Given the description of an element on the screen output the (x, y) to click on. 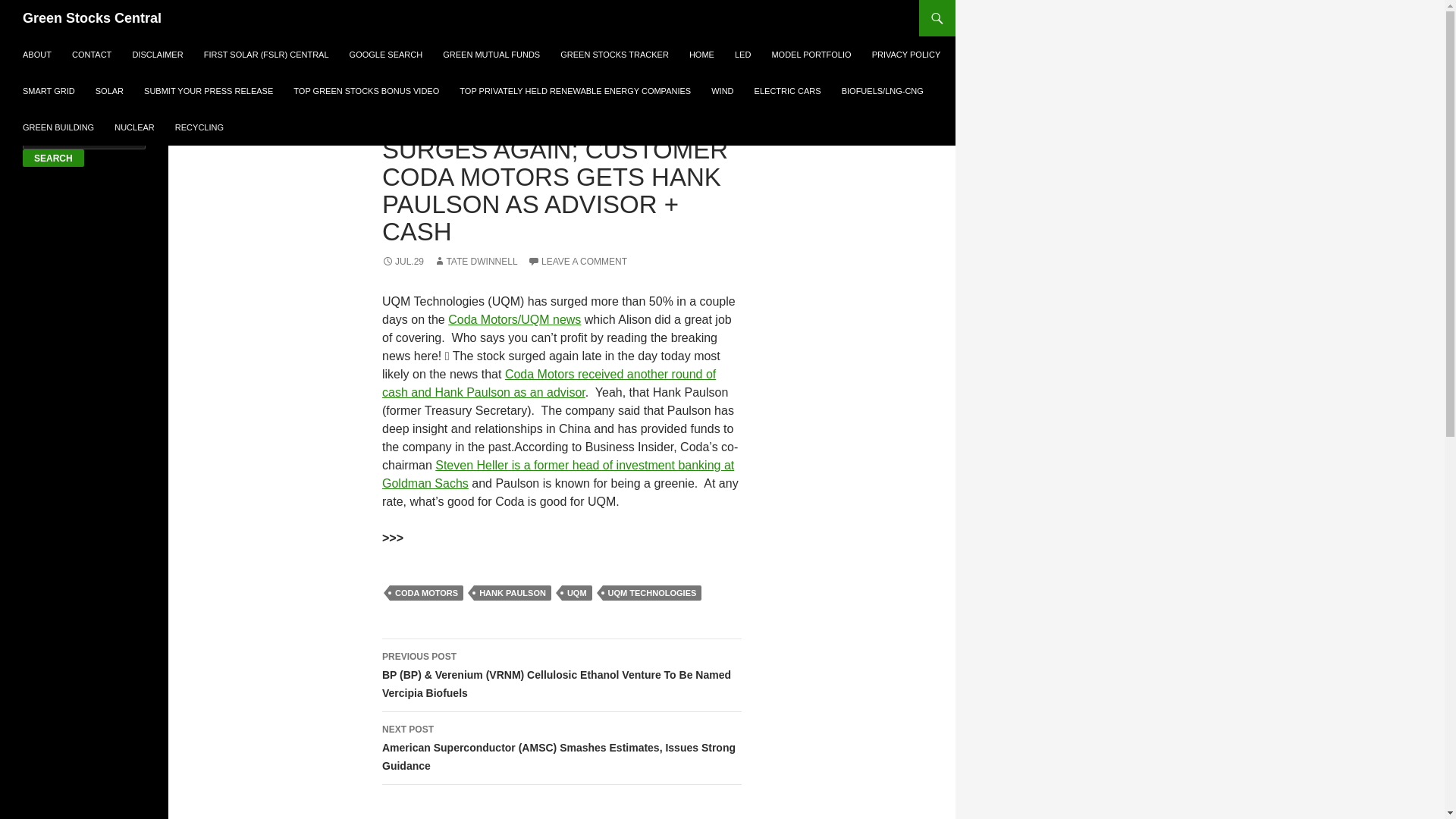
NUCLEAR (133, 126)
GREEN MUTUAL FUNDS (490, 54)
TOP PRIVATELY HELD RENEWABLE ENERGY COMPANIES (574, 90)
ELECTRIC CARS (787, 90)
SMART GRID (48, 90)
TATE DWINNELL (474, 261)
CONTACT (91, 54)
Green Stocks Central (92, 18)
UQM (577, 592)
HOME (701, 54)
JUL.29 (402, 261)
LEAVE A COMMENT (577, 261)
HANK PAULSON (512, 592)
CODA MOTORS (426, 592)
